Given the description of an element on the screen output the (x, y) to click on. 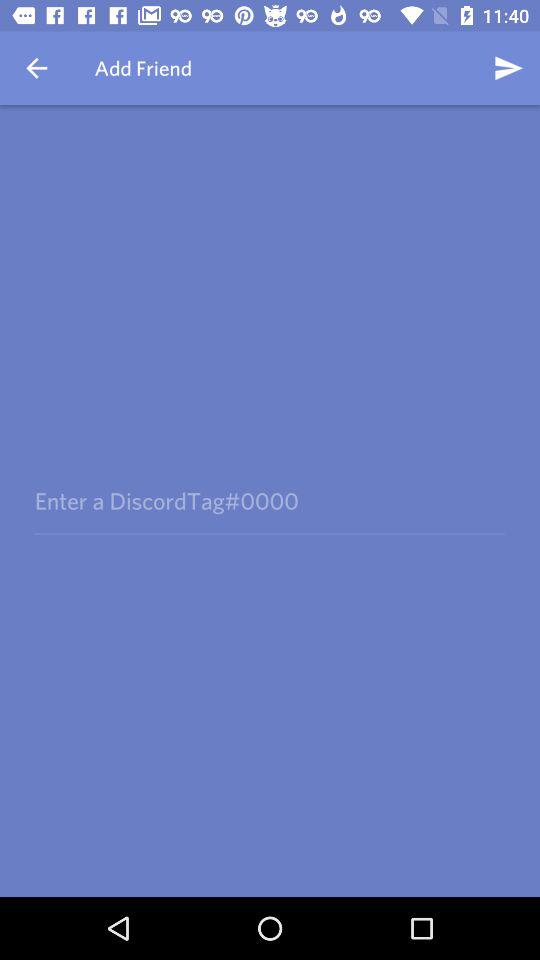
tap the icon next to add friend icon (36, 68)
